Given the description of an element on the screen output the (x, y) to click on. 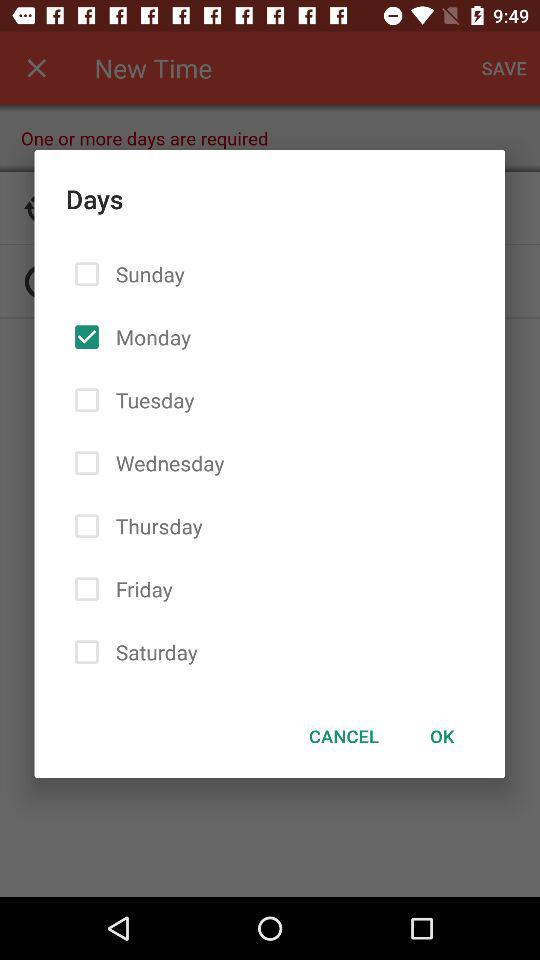
swipe to thursday (155, 525)
